Given the description of an element on the screen output the (x, y) to click on. 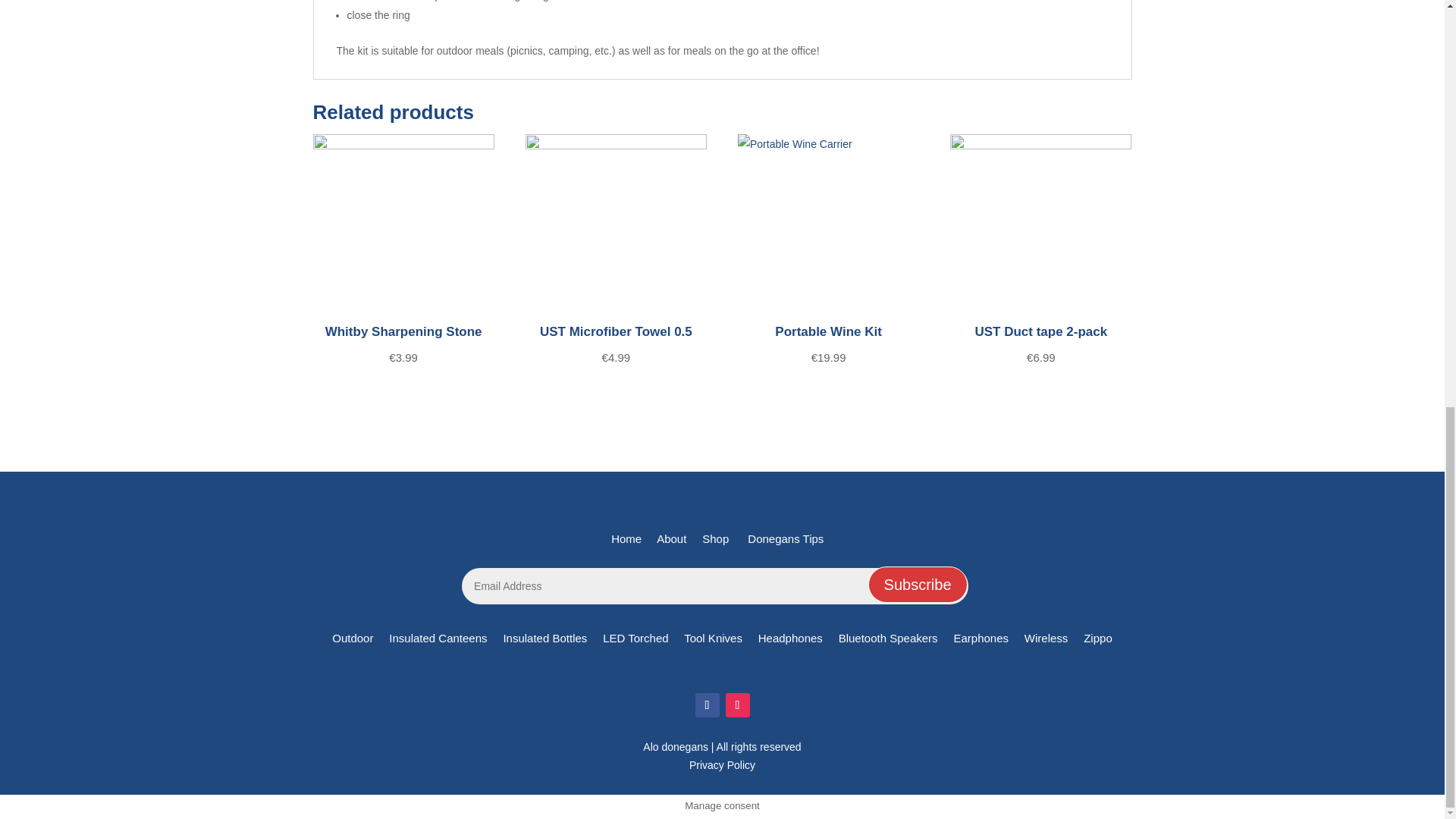
Donegans (673, 538)
Leatherman Knives (714, 637)
LED Torch (635, 637)
Out Door Gadgets (353, 637)
Insulated Canteens (437, 637)
Headphones (788, 637)
Donegans Portlaoise (788, 538)
